Given the description of an element on the screen output the (x, y) to click on. 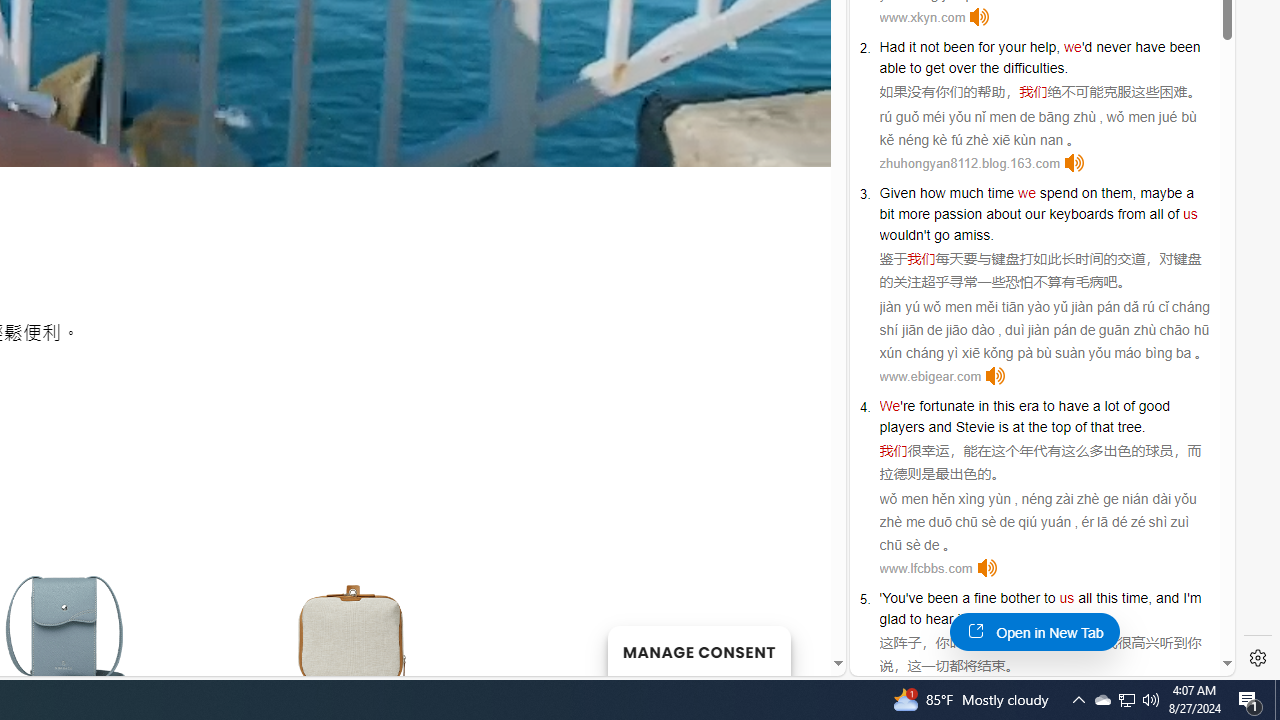
lot (1111, 405)
difficulties (1033, 67)
we (1026, 192)
amiss (971, 234)
us (1066, 597)
bother (1019, 597)
maybe (1161, 192)
top (1060, 426)
